Given the description of an element on the screen output the (x, y) to click on. 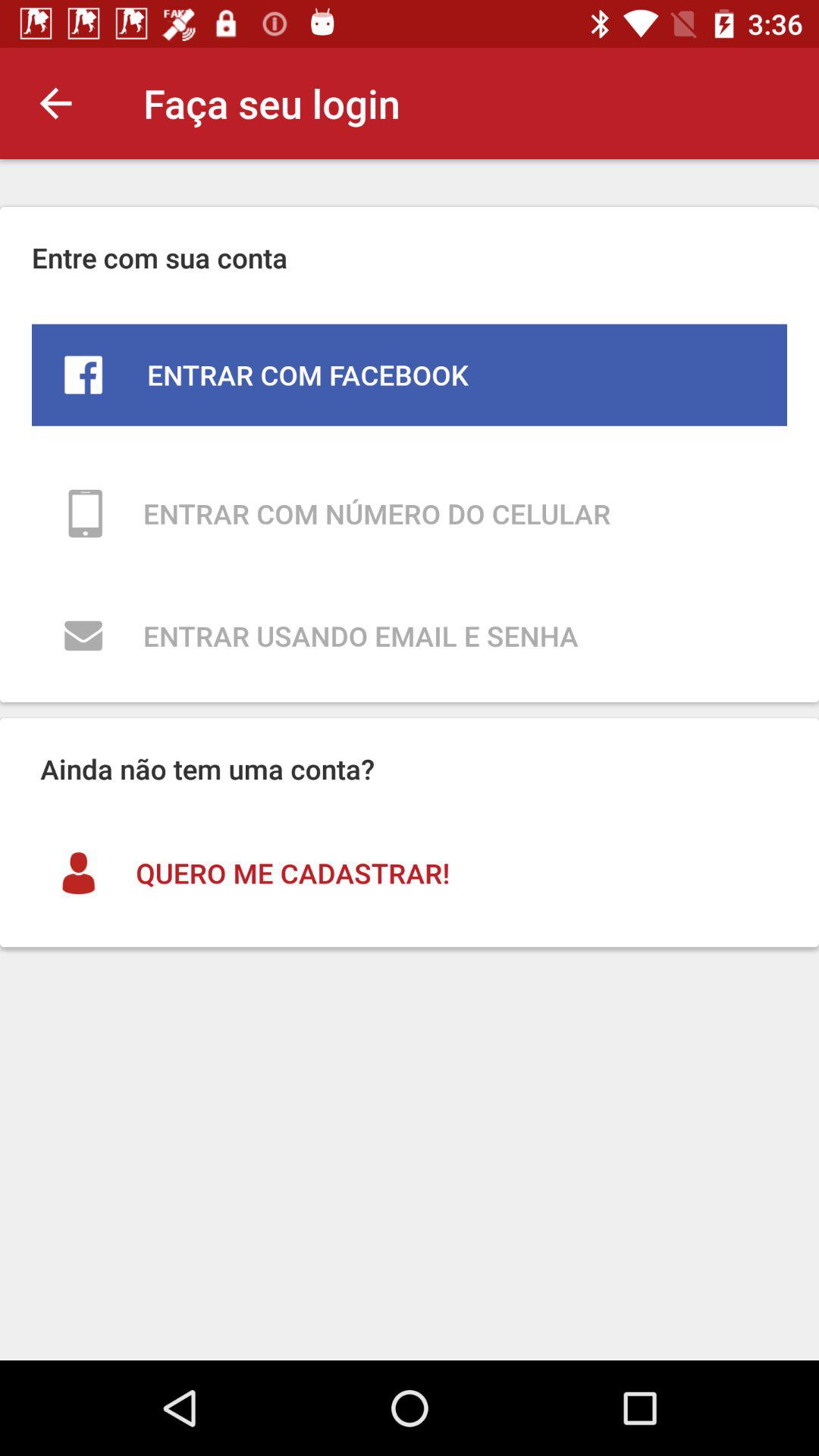
flip to the entrar usando email item (409, 635)
